Given the description of an element on the screen output the (x, y) to click on. 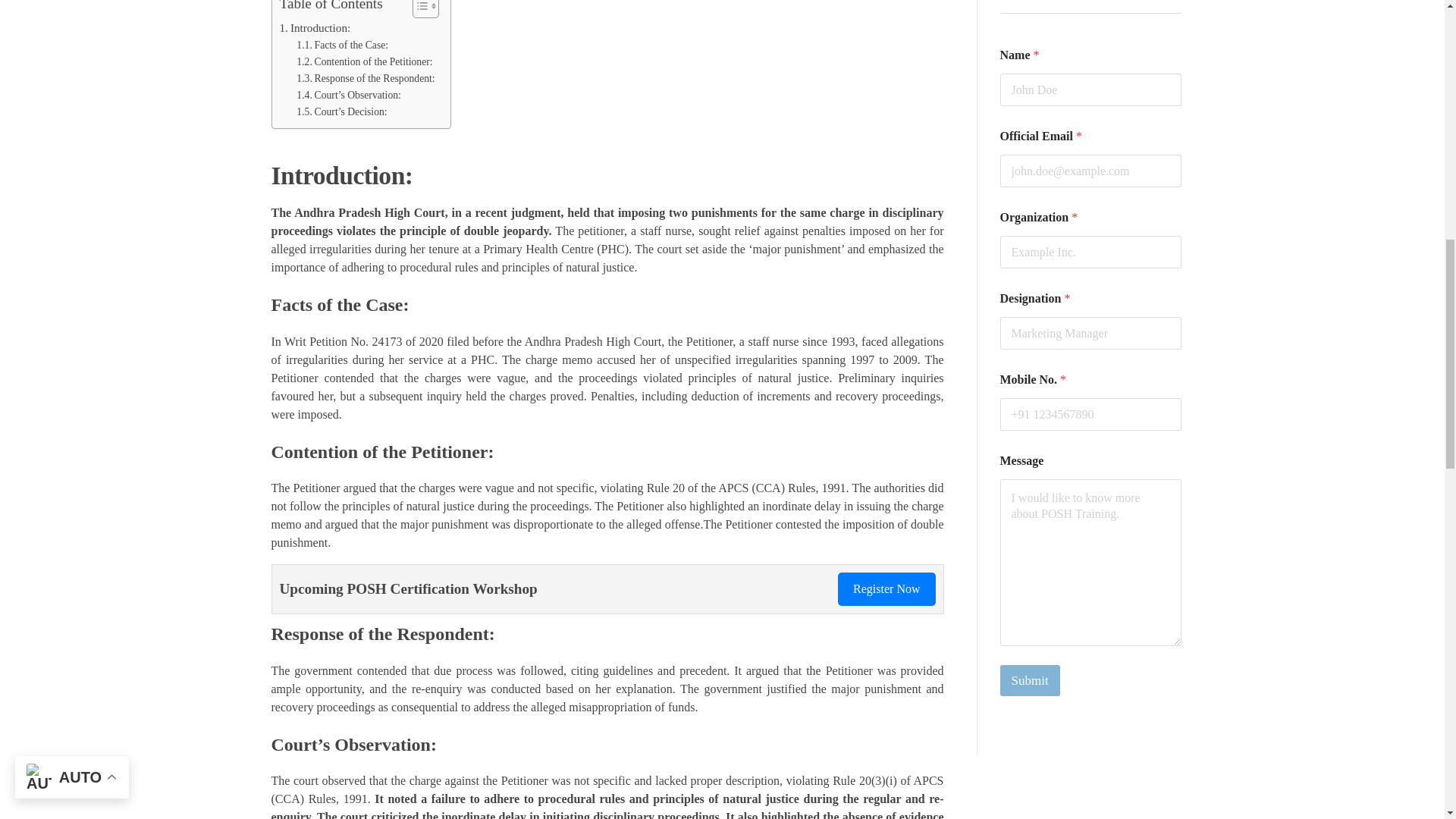
Introduction: (314, 27)
Response of the Respondent: (365, 78)
Facts of the Case: (342, 45)
Contention of the Petitioner: (364, 62)
